Given the description of an element on the screen output the (x, y) to click on. 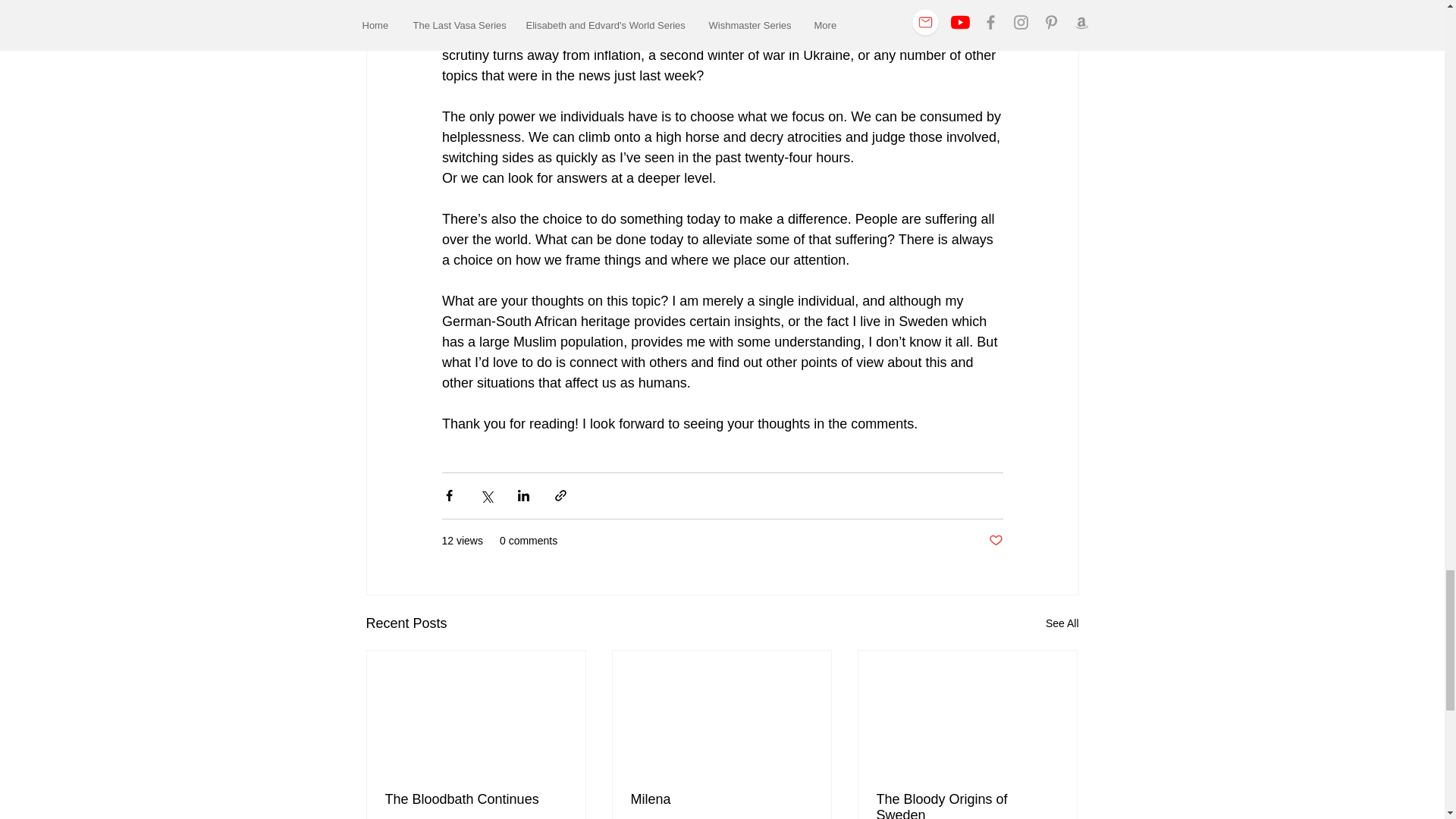
Post not marked as liked (995, 540)
The Bloodbath Continues (476, 799)
See All (1061, 623)
Milena (721, 799)
